Given the description of an element on the screen output the (x, y) to click on. 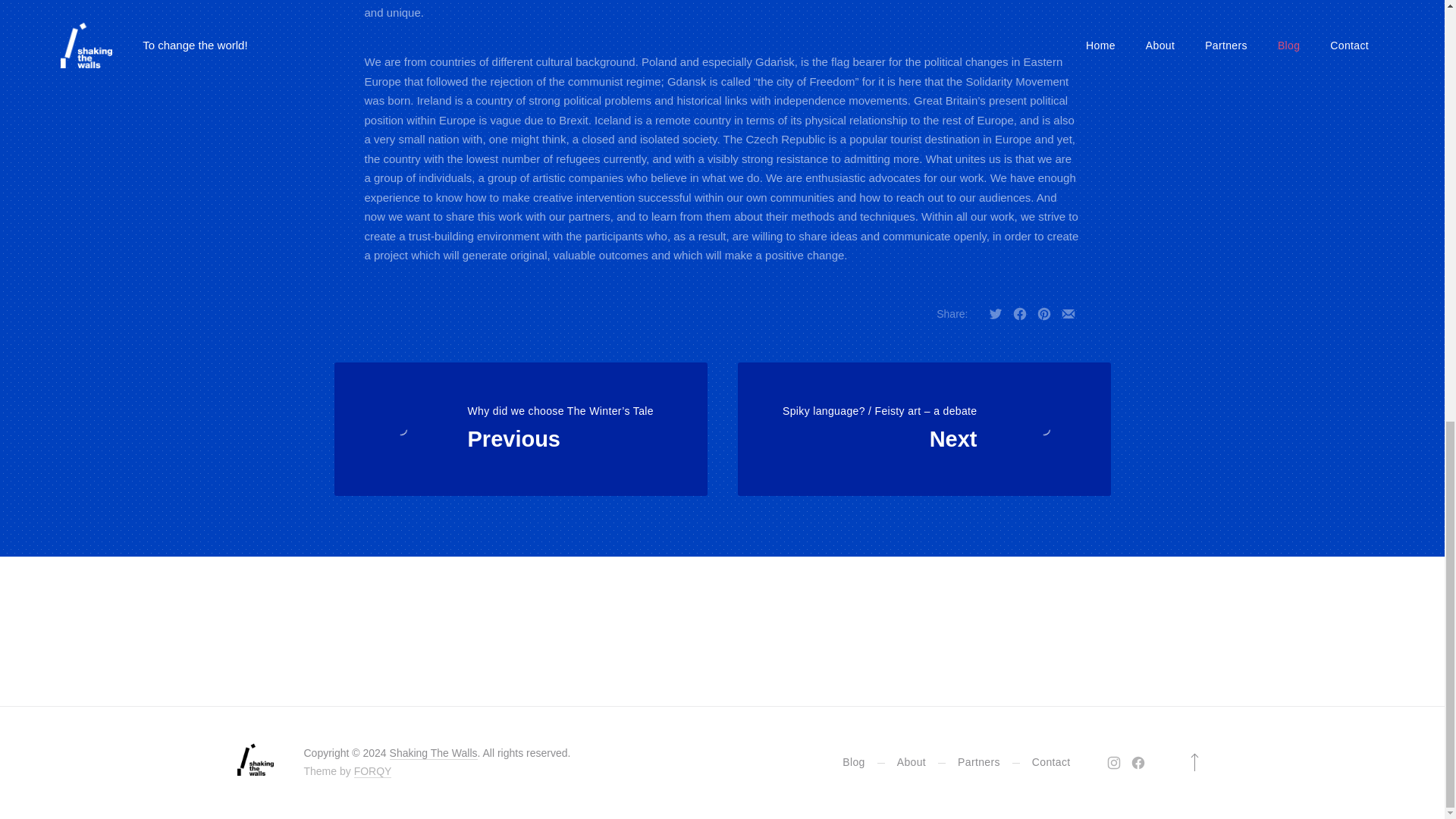
About (911, 761)
Shaking The Walls (433, 753)
FORQY (372, 771)
To change the world! (433, 753)
Back to Top (1193, 762)
Blog (853, 761)
Contact (1051, 761)
Partners (979, 761)
